Given the description of an element on the screen output the (x, y) to click on. 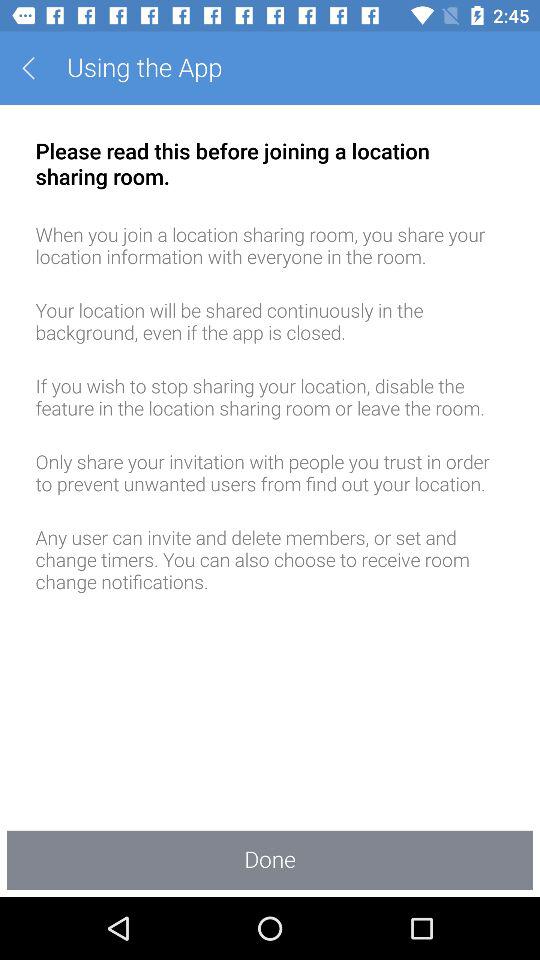
scroll to the done (269, 859)
